Given the description of an element on the screen output the (x, y) to click on. 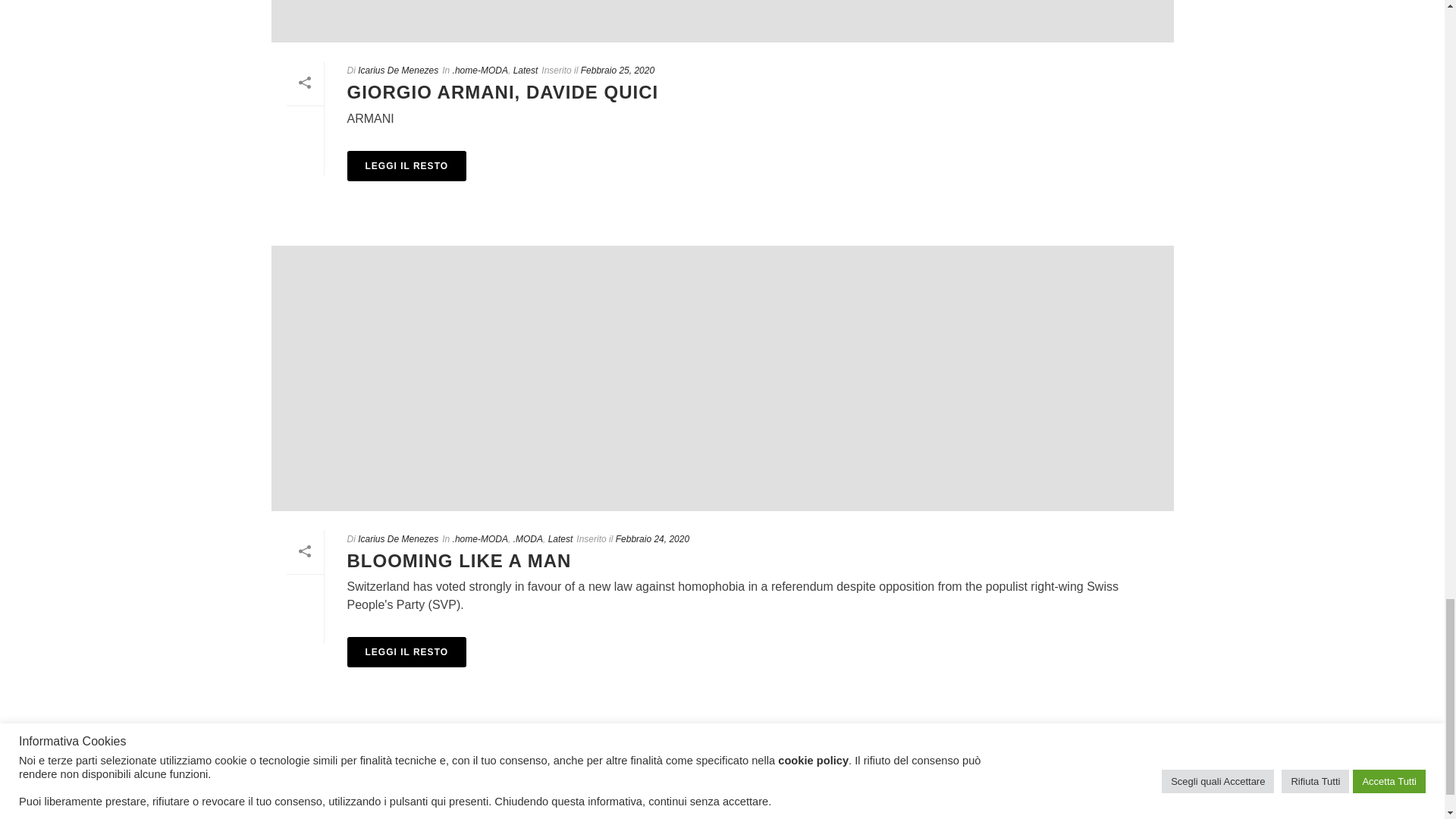
LEGGI IL RESTO (407, 652)
GIORGIO ARMANI, DAVIDE QUICI (721, 21)
LEGGI IL RESTO (407, 165)
